Given the description of an element on the screen output the (x, y) to click on. 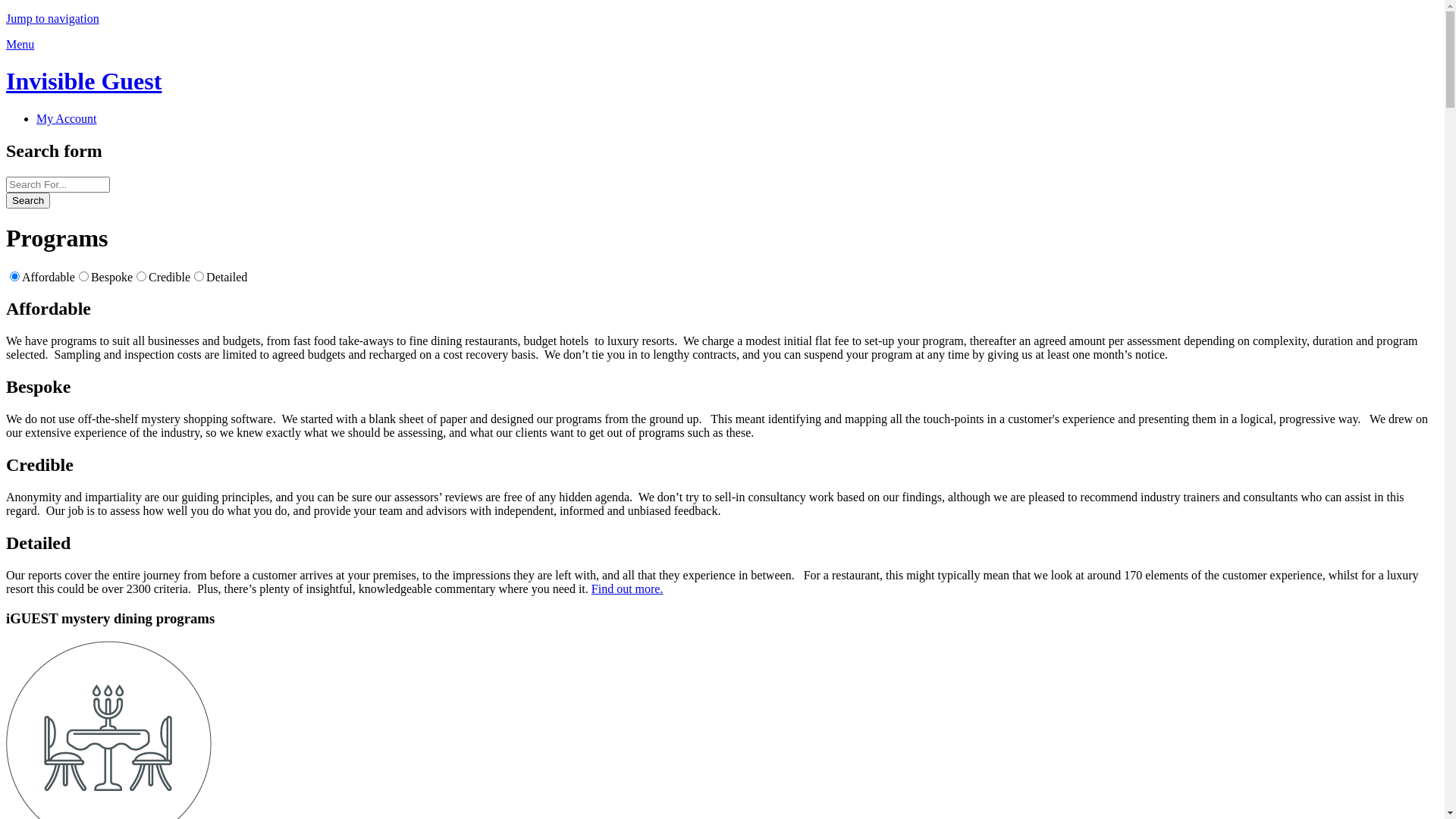
My Account Element type: text (66, 118)
Jump to navigation Element type: text (52, 18)
Search Element type: text (28, 200)
Menu Element type: text (20, 43)
Find out more. Element type: text (627, 588)
Enter the terms you wish to search for. Element type: hover (57, 184)
Invisible Guest Element type: text (83, 80)
